Given the description of an element on the screen output the (x, y) to click on. 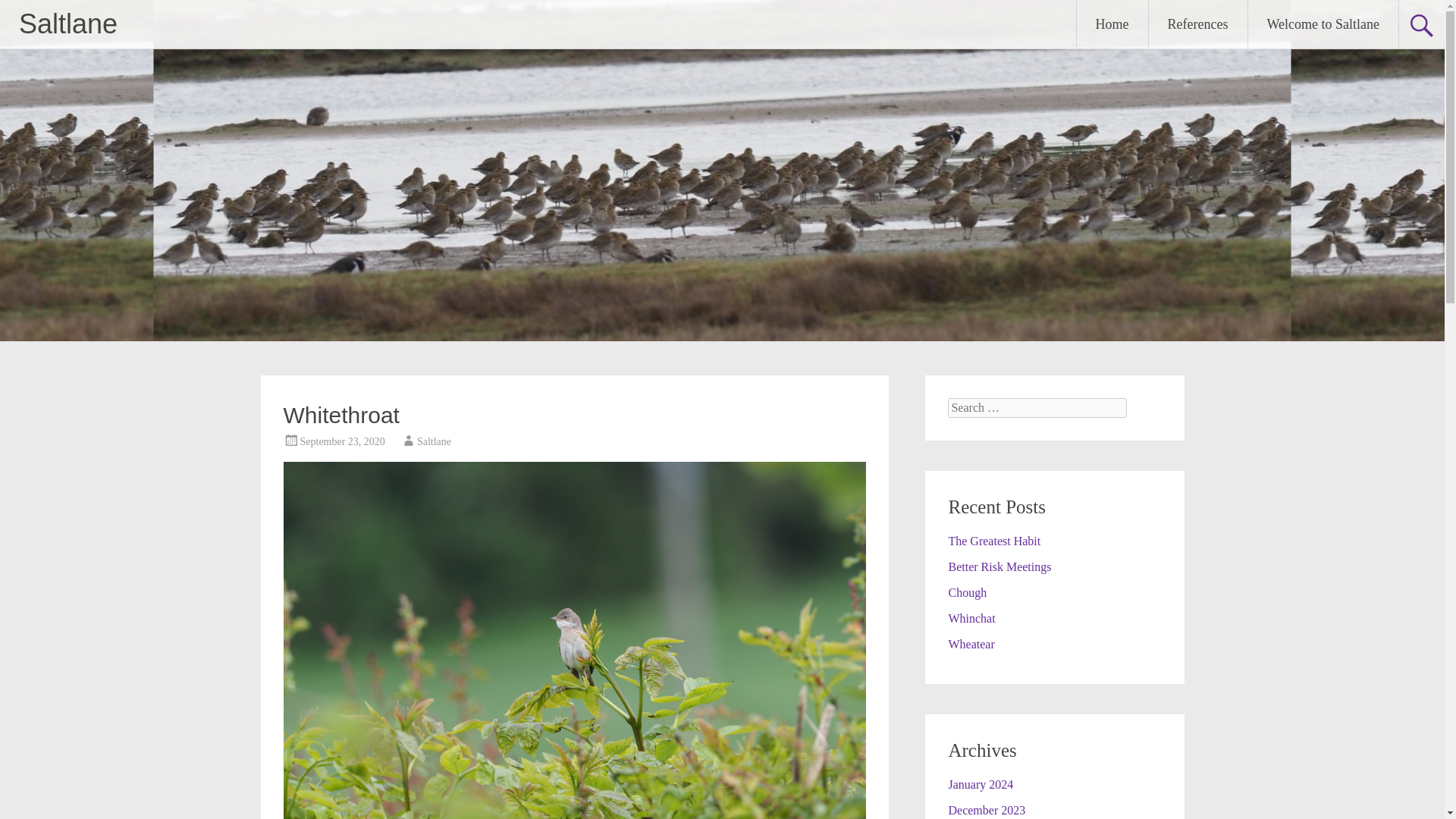
The Greatest Habit (994, 540)
Search (26, 12)
References (1197, 24)
Saltlane (433, 441)
Saltlane (67, 23)
Welcome to Saltlane (1323, 24)
Whinchat (970, 617)
Chough (967, 592)
Better Risk Meetings (999, 566)
Home (1112, 24)
January 2024 (980, 784)
December 2023 (986, 809)
Wheatear (970, 644)
Saltlane (67, 23)
September 23, 2020 (342, 441)
